Given the description of an element on the screen output the (x, y) to click on. 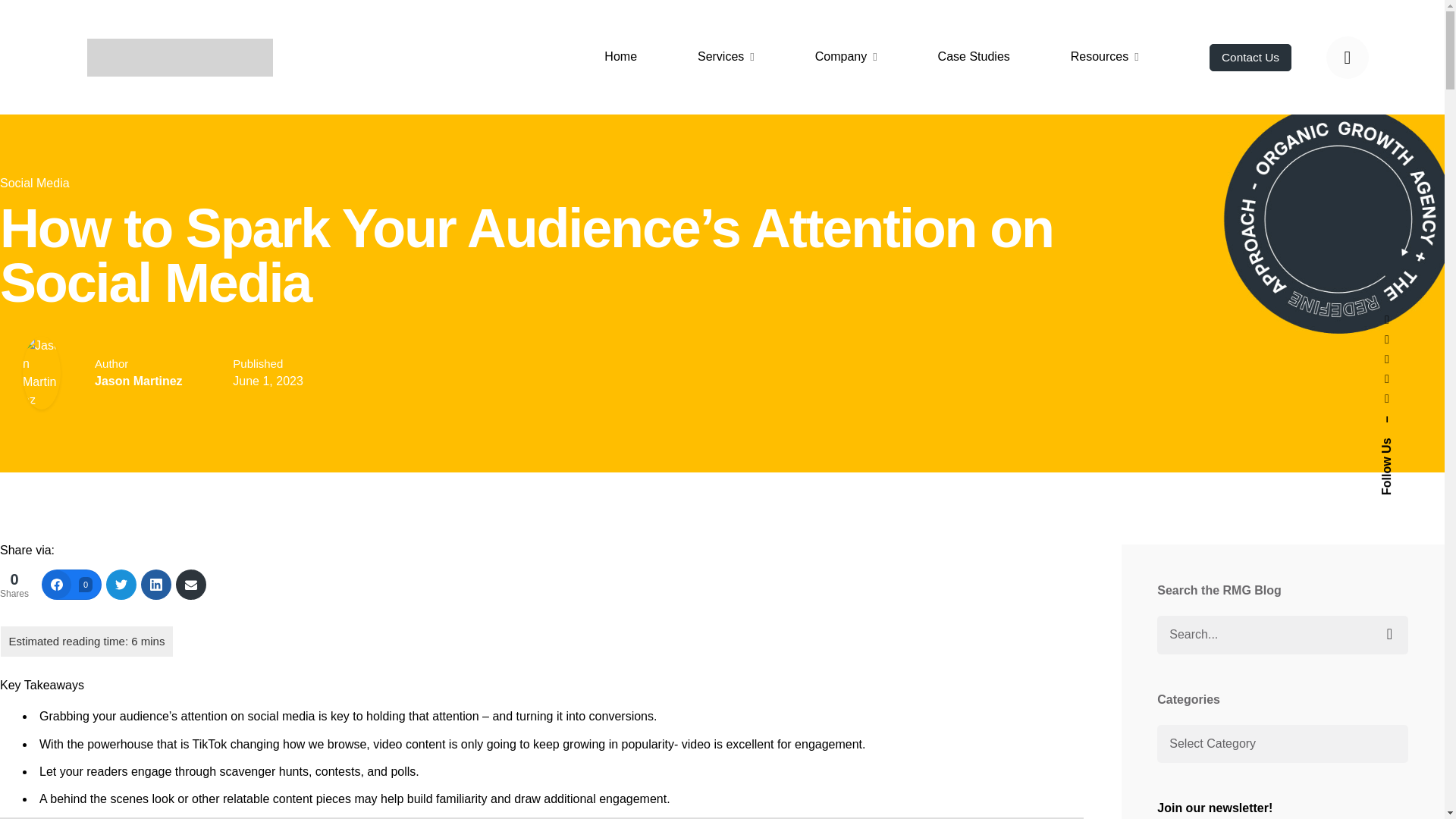
Services (725, 57)
Case Studies (973, 57)
Home (620, 57)
Company (846, 57)
Resources (1104, 57)
